Given the description of an element on the screen output the (x, y) to click on. 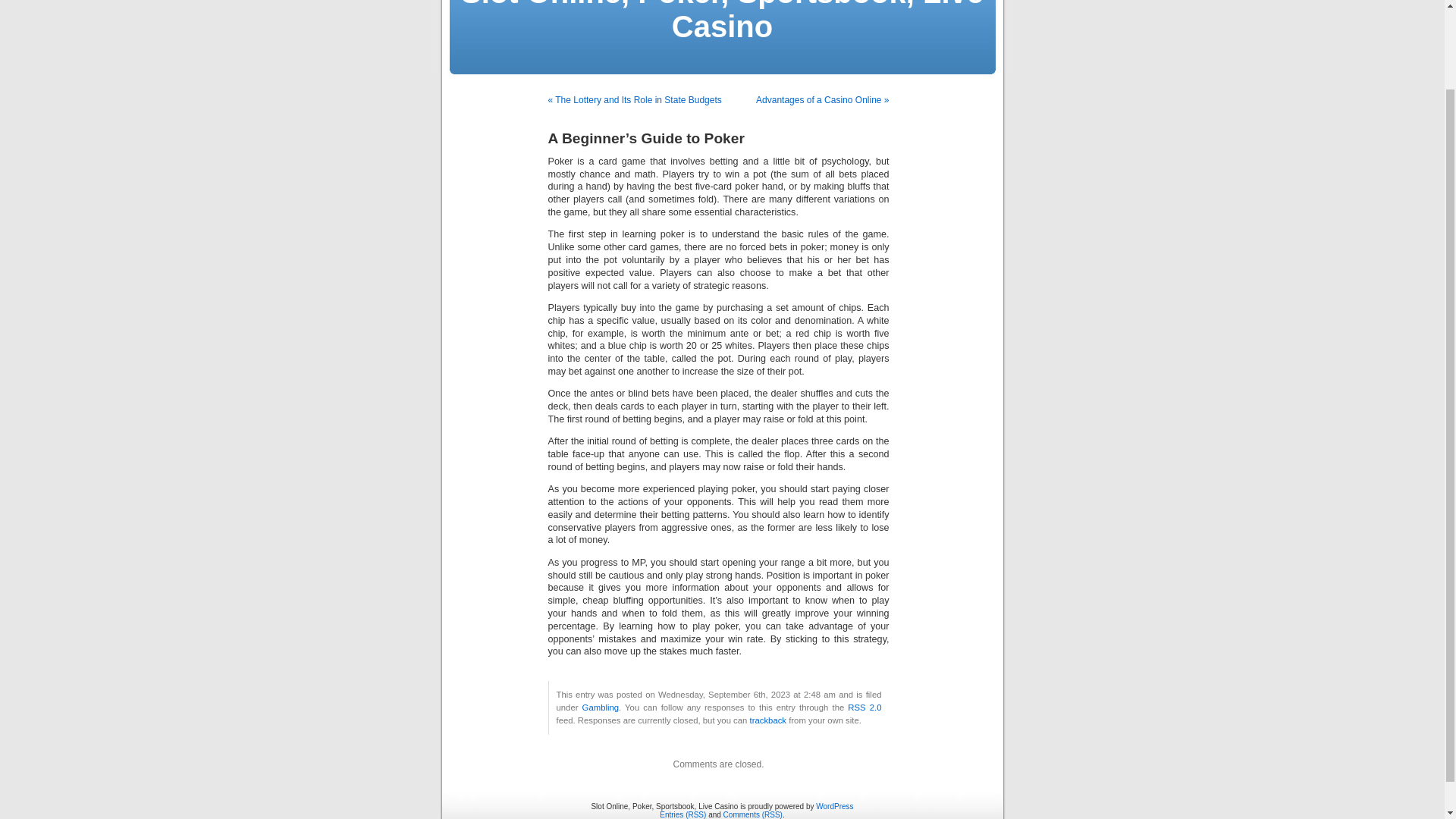
Slot Online, Poker, Sportsbook, Live Casino (722, 21)
WordPress (834, 806)
Gambling (600, 706)
trackback (767, 719)
RSS 2.0 (863, 706)
